Given the description of an element on the screen output the (x, y) to click on. 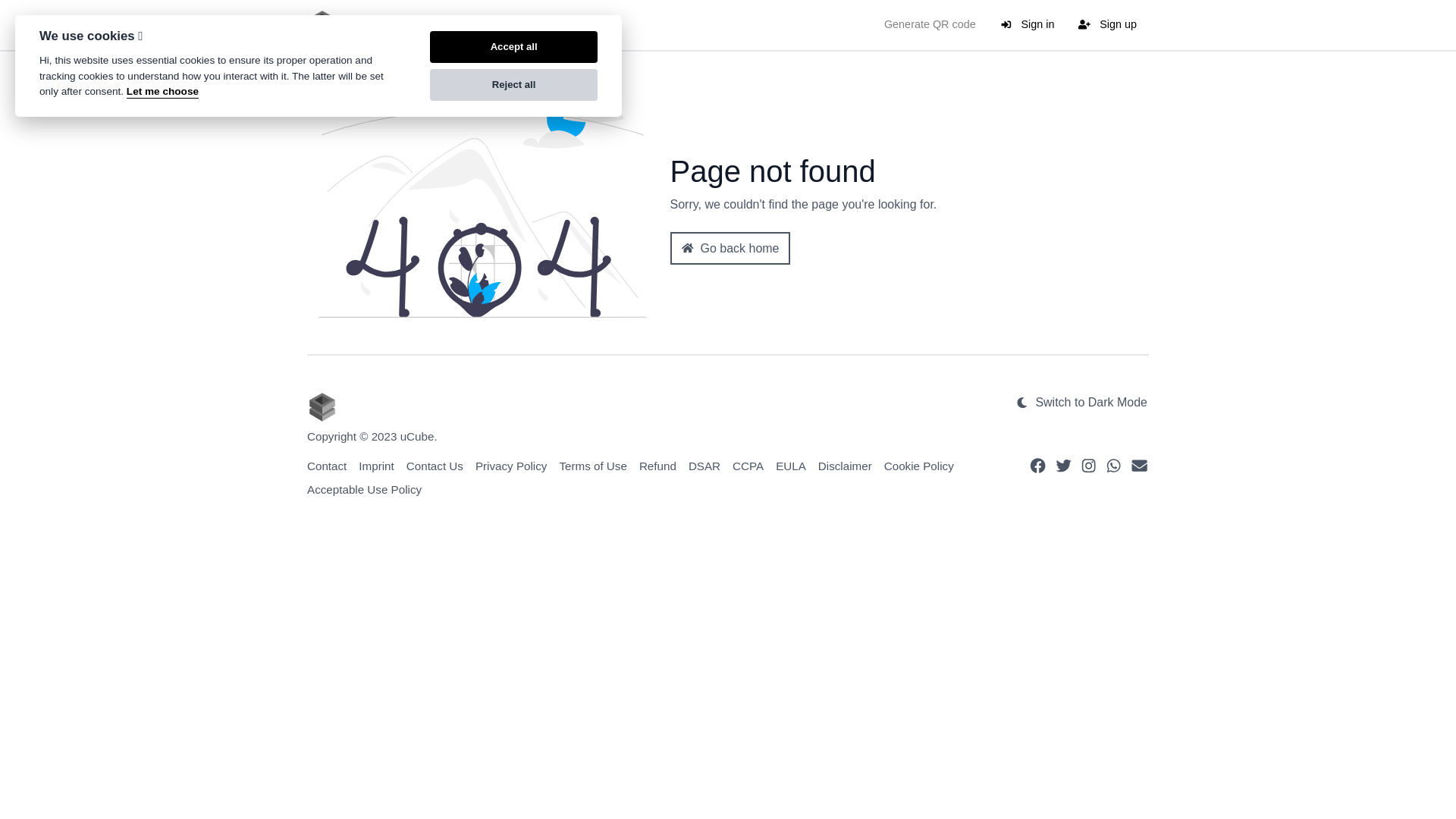
Imprint Element type: text (375, 465)
Terms of Use Element type: text (592, 465)
Refund Element type: text (657, 465)
Sign up Element type: text (1107, 24)
Acceptable Use Policy Element type: text (364, 489)
DSAR Element type: text (704, 465)
Generate QR code Element type: text (930, 24)
Contact Element type: text (326, 465)
Sign in Element type: text (1027, 24)
Privacy Policy Element type: text (511, 465)
Cookie Policy Element type: text (918, 465)
Reject all Element type: text (513, 84)
Disclaimer Element type: text (845, 465)
EULA Element type: text (790, 465)
CCPA Element type: text (747, 465)
Let me choose Element type: text (162, 91)
Go back home Element type: text (730, 247)
Switch to Dark Mode Element type: text (1080, 402)
Accept all Element type: text (513, 46)
Contact Us Element type: text (434, 465)
